Given the description of an element on the screen output the (x, y) to click on. 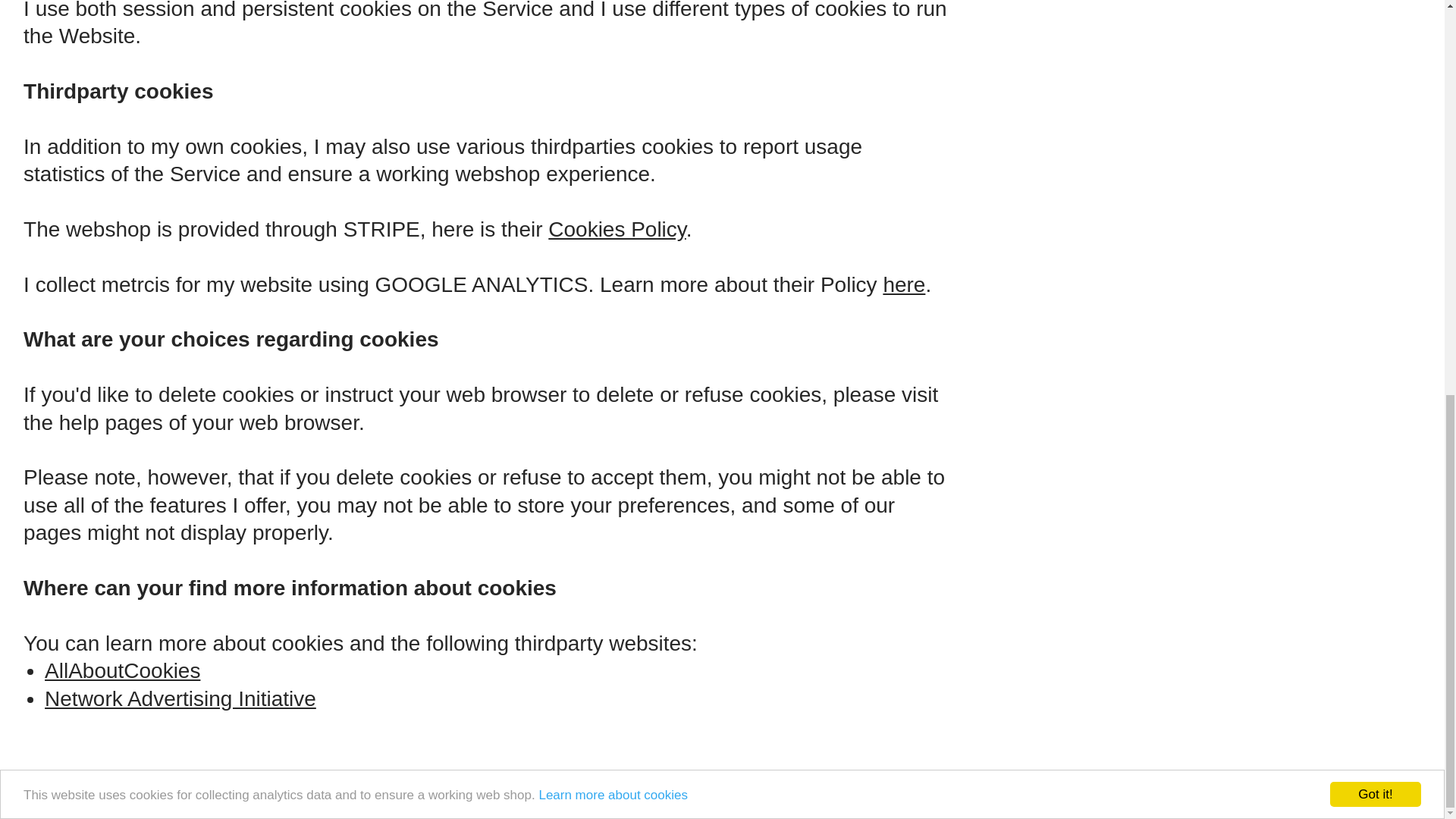
here (903, 285)
Cookies Policy (616, 230)
AllAboutCookies (122, 671)
Network Advertising Initiative (180, 699)
